Given the description of an element on the screen output the (x, y) to click on. 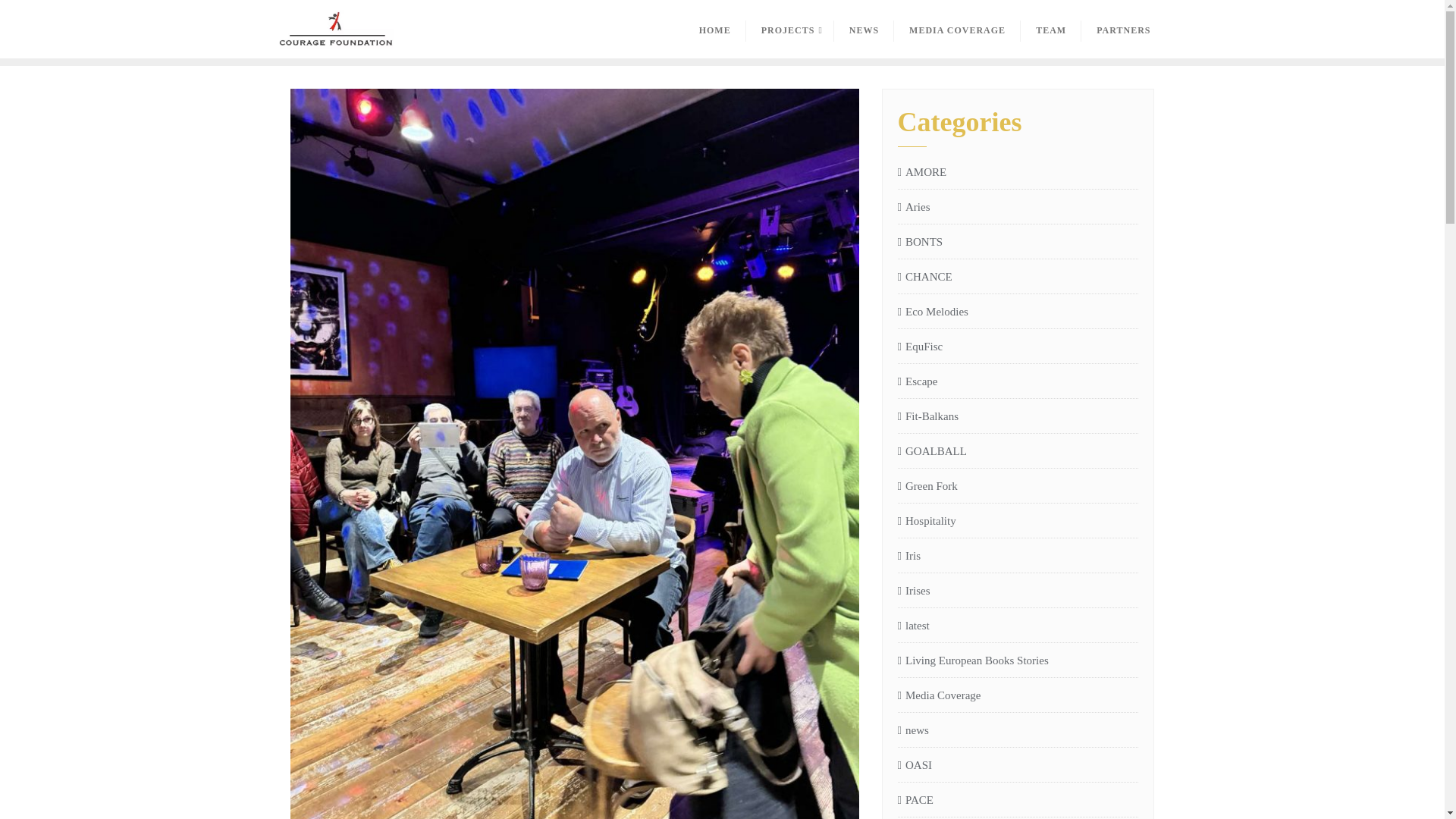
MEDIA COVERAGE (956, 29)
PARTNERS (1123, 29)
NEWS (863, 29)
PROJECTS (789, 29)
HOME (714, 29)
TEAM (1050, 29)
